Given the description of an element on the screen output the (x, y) to click on. 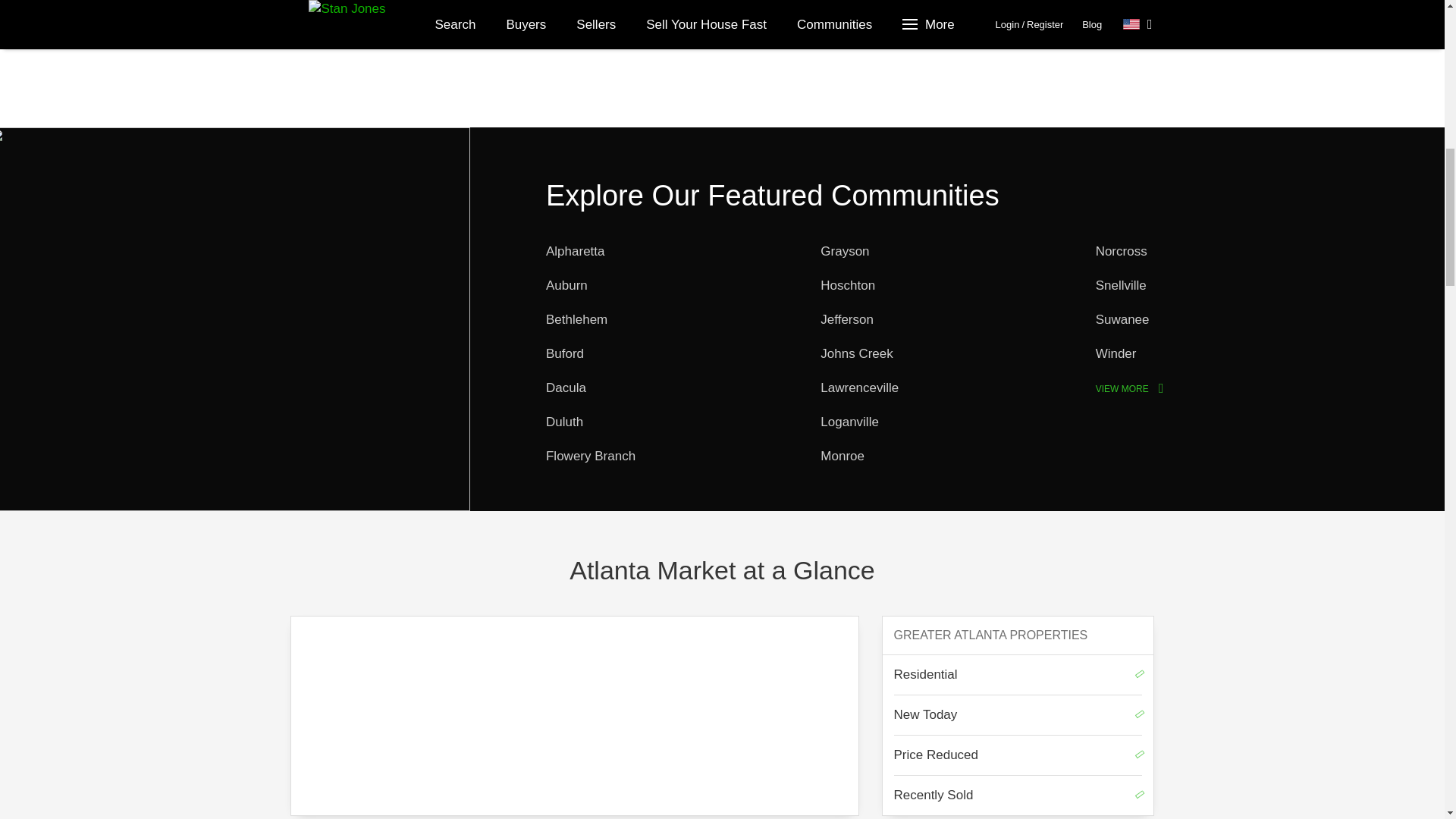
View Auburn (567, 285)
View Alpharetta (575, 251)
View Buford (564, 353)
View Bethlehem (576, 319)
